Given the description of an element on the screen output the (x, y) to click on. 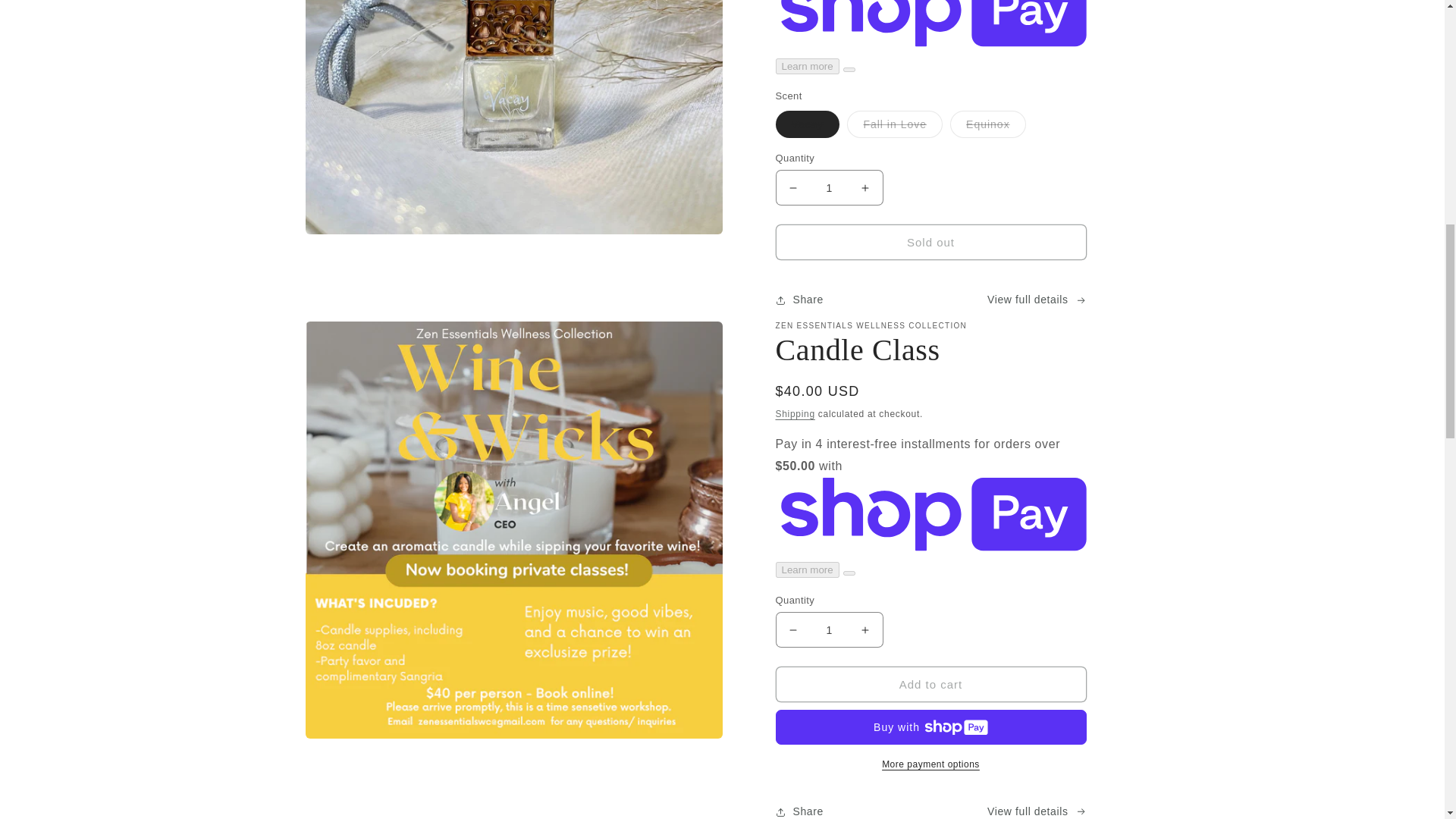
1 (828, 187)
1 (828, 629)
